Given the description of an element on the screen output the (x, y) to click on. 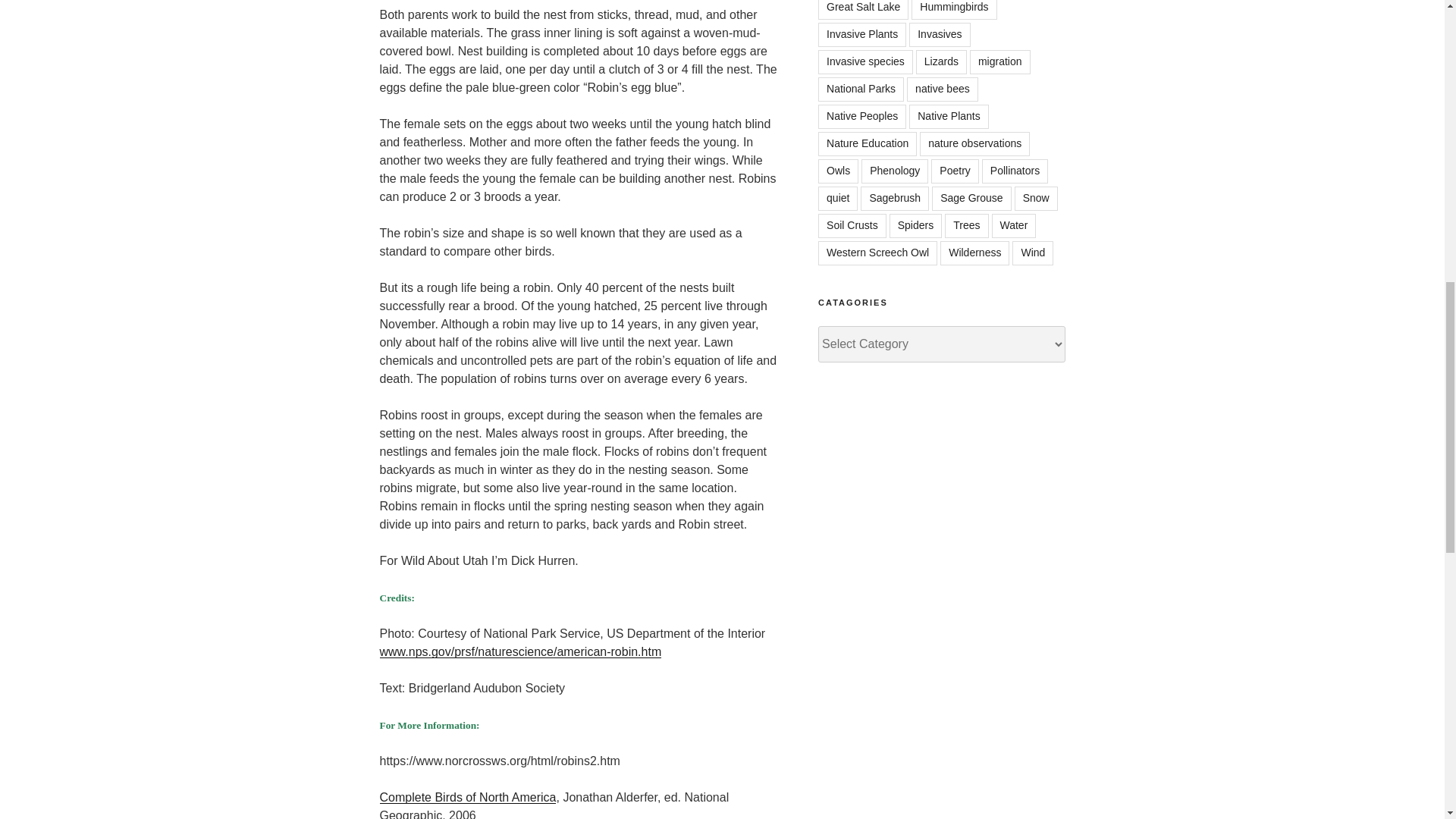
Complete Birds of North America (467, 797)
